Given the description of an element on the screen output the (x, y) to click on. 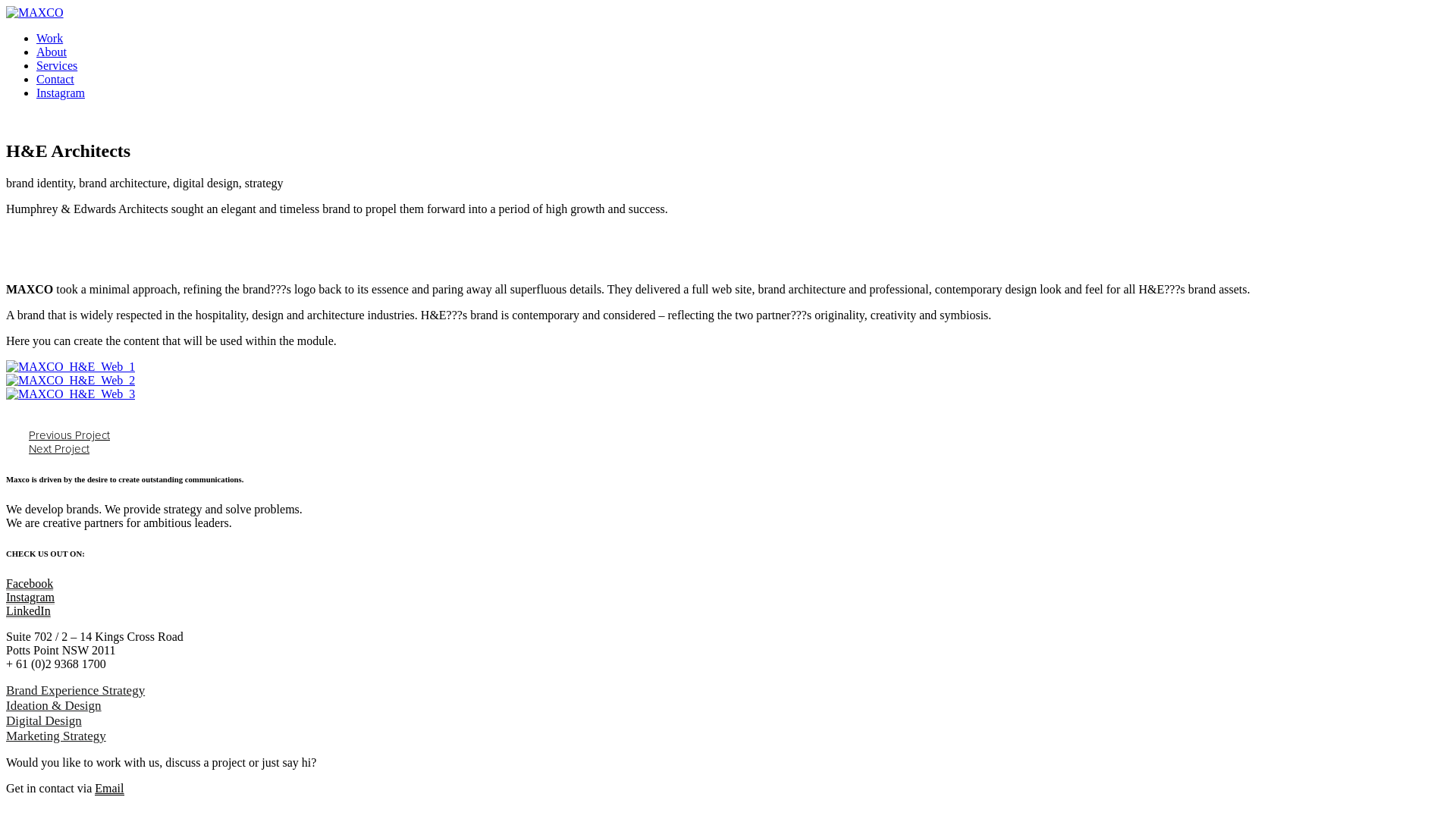
Work Element type: text (49, 37)
Services Element type: text (56, 65)
Marketing Strategy Element type: text (56, 735)
Digital Design Element type: text (43, 720)
Email Element type: text (108, 788)
MAXCO_H&E_Web_1 Element type: hover (70, 366)
Ideation & Design Element type: text (53, 705)
LinkedIn Element type: text (28, 611)
Instagram Element type: text (30, 597)
Previous Project Element type: text (68, 435)
Contact Element type: text (55, 78)
Instagram Element type: text (60, 92)
Facebook Element type: text (29, 583)
Brand Experience Strategy Element type: text (75, 690)
MAXCO_H&E_Web_3 Element type: hover (70, 393)
MAXCO_H&E_Web_2 Element type: hover (70, 379)
Next Project Element type: text (58, 448)
About Element type: text (51, 51)
